Given the description of an element on the screen output the (x, y) to click on. 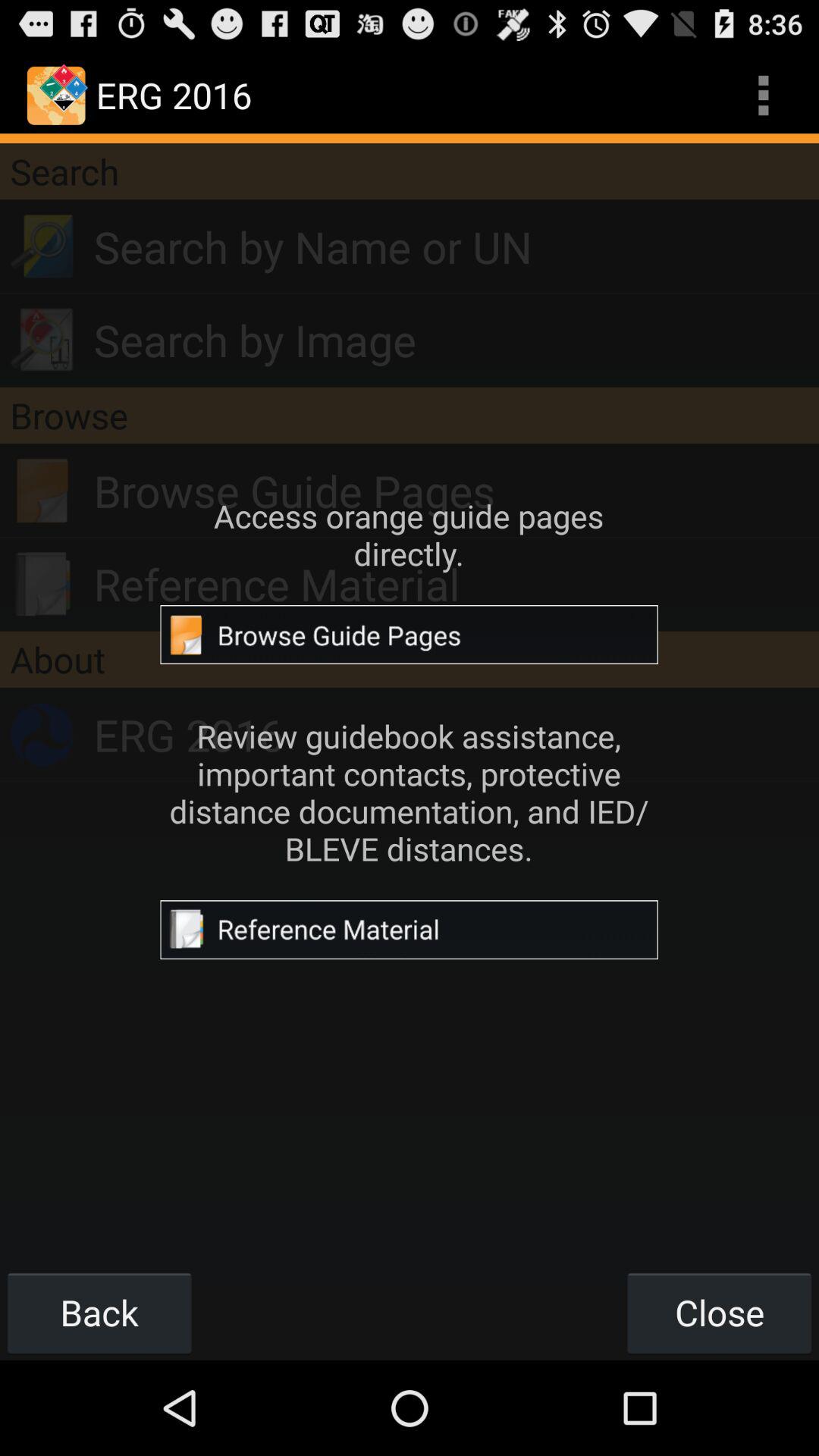
choose the back button (99, 1312)
